Given the description of an element on the screen output the (x, y) to click on. 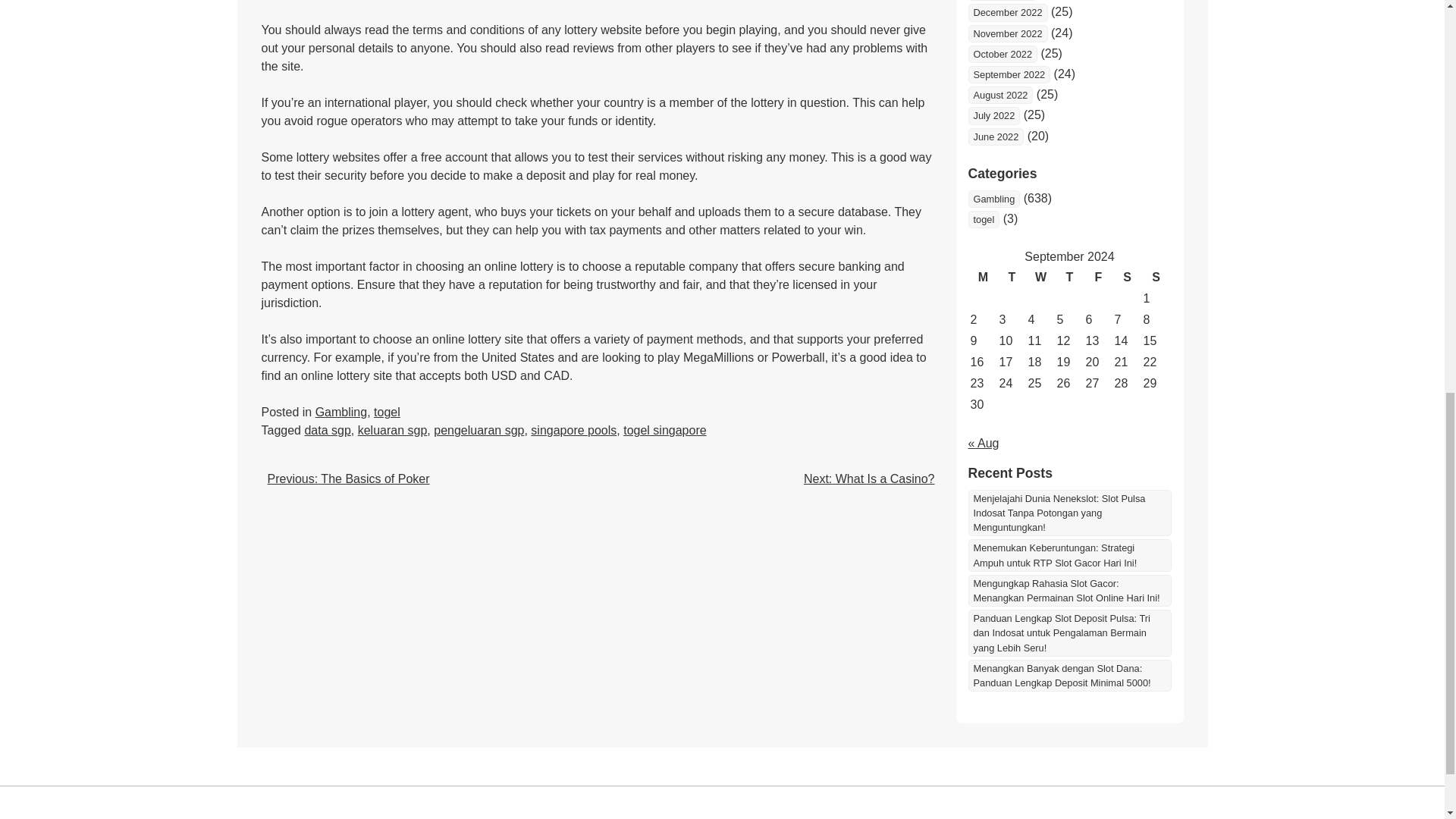
November 2022 (1007, 33)
data sgp (327, 430)
Sunday (1155, 277)
singapore pools (573, 430)
Monday (982, 277)
Friday (1098, 277)
Thursday (1069, 277)
Saturday (1126, 277)
togel singapore (664, 430)
togel (387, 411)
